Given the description of an element on the screen output the (x, y) to click on. 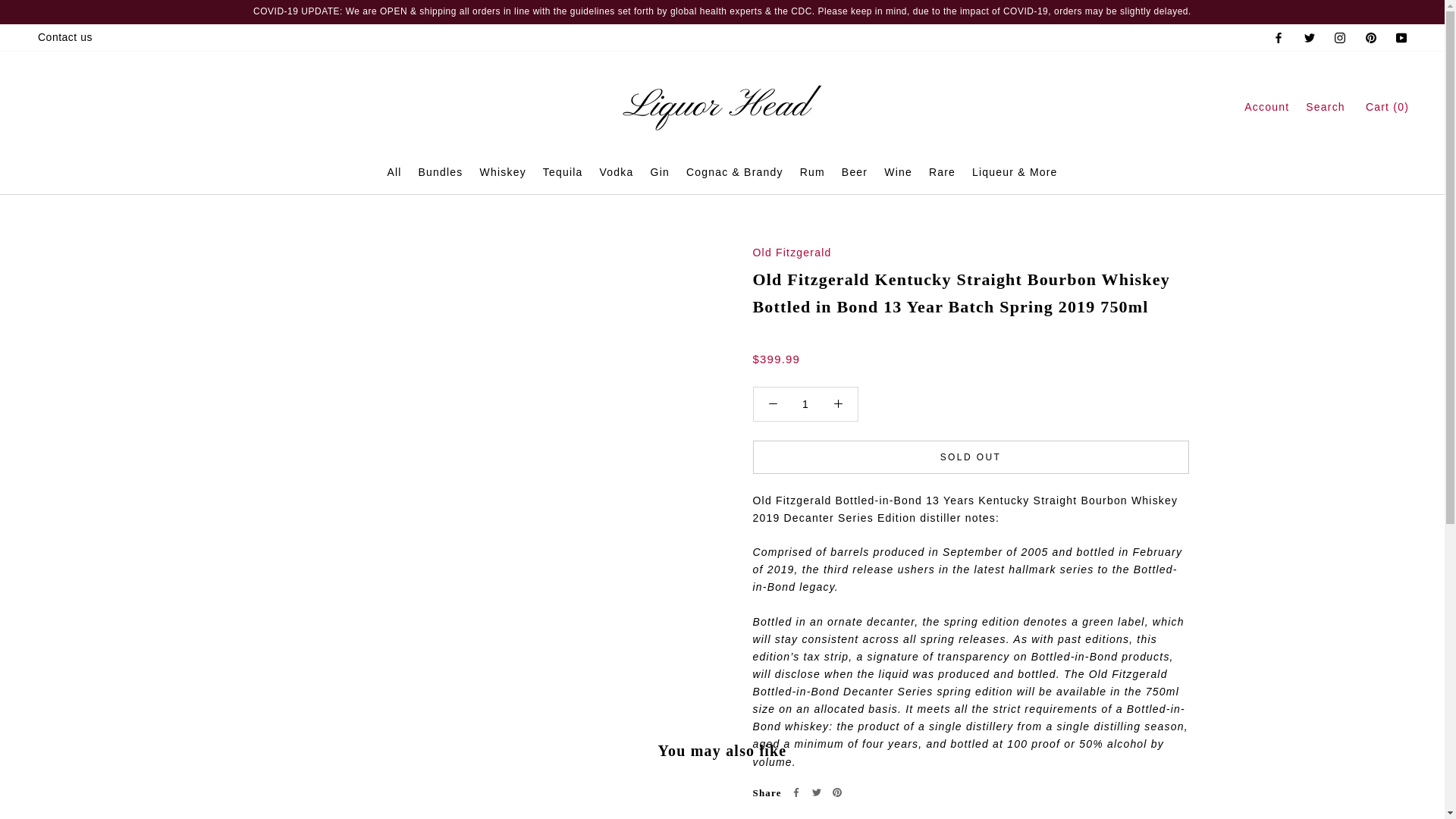
1 (805, 404)
